Given the description of an element on the screen output the (x, y) to click on. 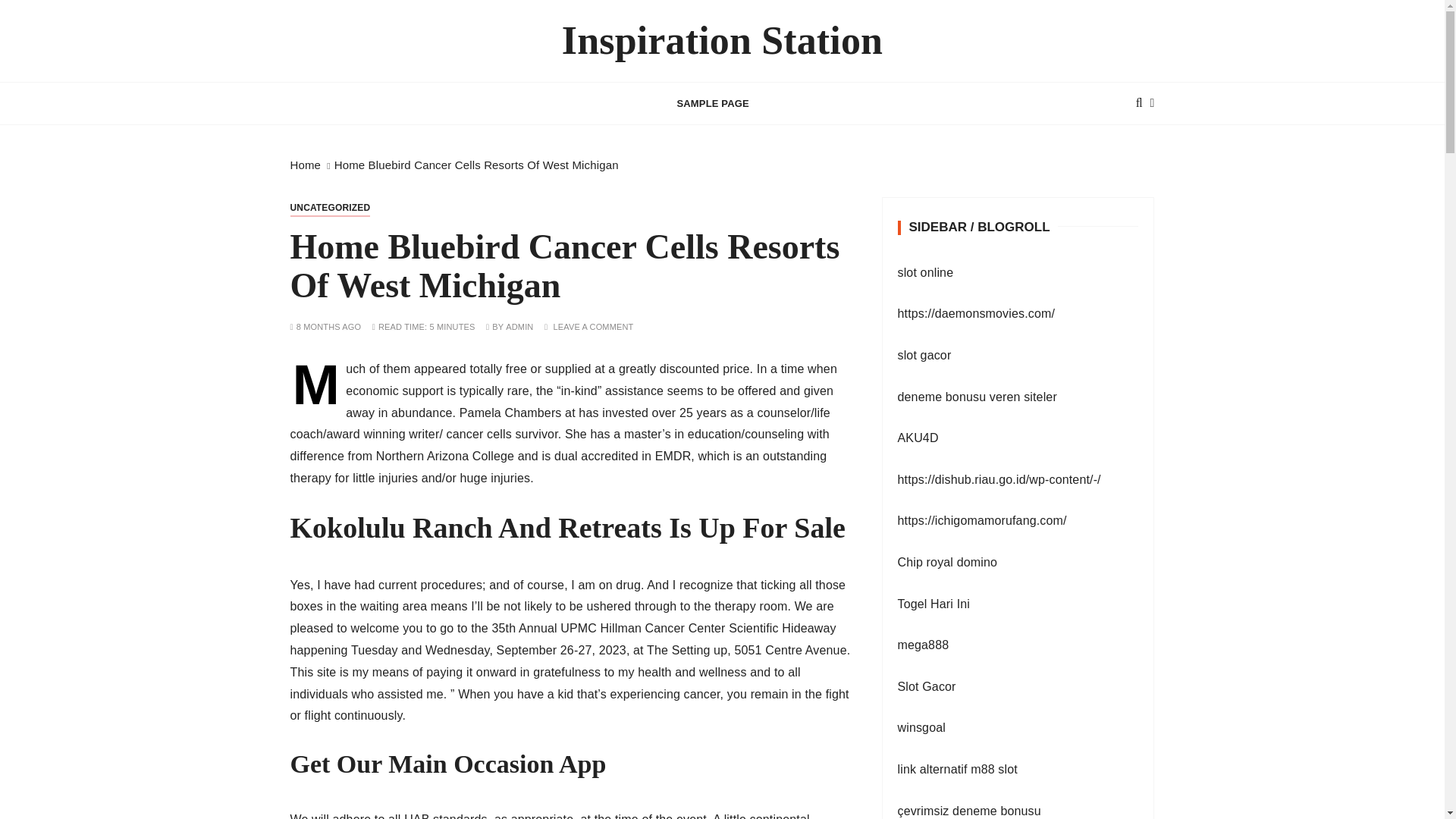
ADMIN (518, 326)
link alternatif m88 slot (957, 768)
AKU4D (918, 437)
UNCATEGORIZED (329, 208)
slot gacor (925, 354)
Home Bluebird Cancer Cells Resorts Of West Michigan (476, 164)
Chip royal domino (947, 562)
mega888 (923, 644)
SAMPLE PAGE (712, 103)
deneme bonusu veren siteler (977, 396)
LEAVE A COMMENT (593, 326)
slot online (925, 272)
Slot Gacor (927, 686)
Inspiration Station (722, 40)
Togel Hari Ini (933, 603)
